Given the description of an element on the screen output the (x, y) to click on. 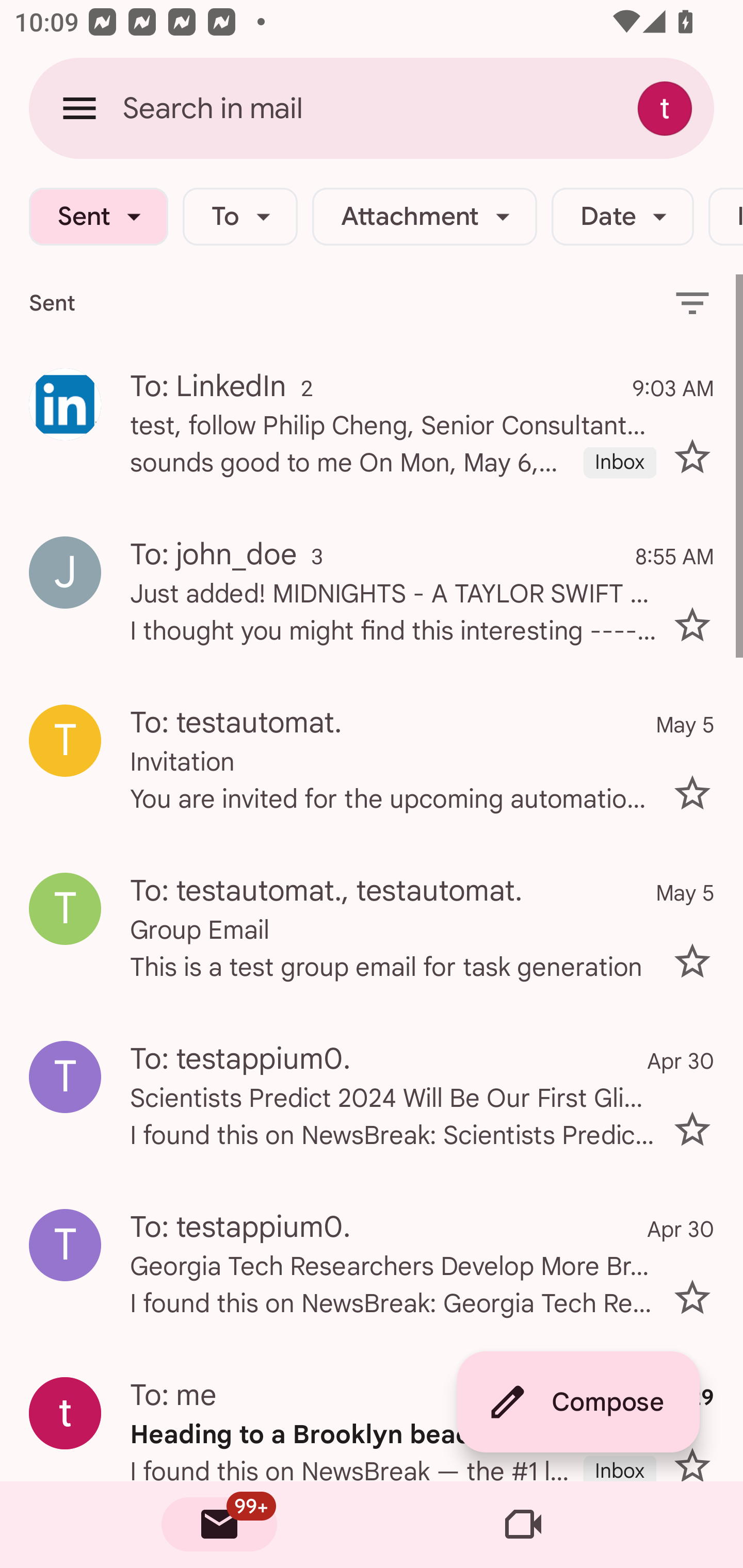
Open navigation drawer (79, 108)
Sent (97, 217)
To (239, 217)
Attachment (424, 217)
Date (622, 217)
Filter icon (692, 302)
Compose (577, 1401)
Meet (523, 1524)
